Given the description of an element on the screen output the (x, y) to click on. 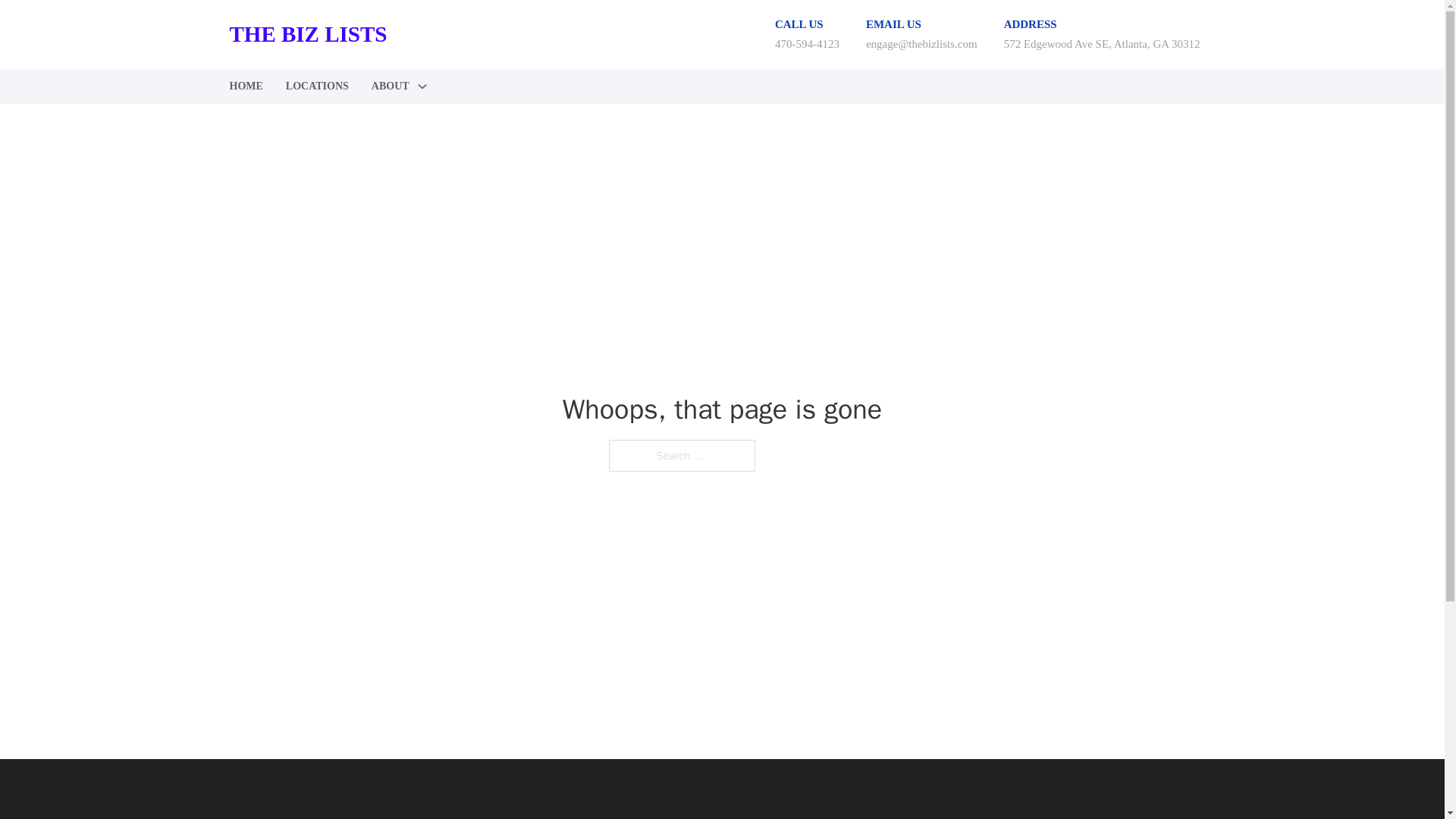
LOCATIONS (317, 85)
THE BIZ LISTS (307, 817)
THE BIZ LISTS (307, 34)
470-594-4123 (807, 43)
HOME (245, 85)
